Given the description of an element on the screen output the (x, y) to click on. 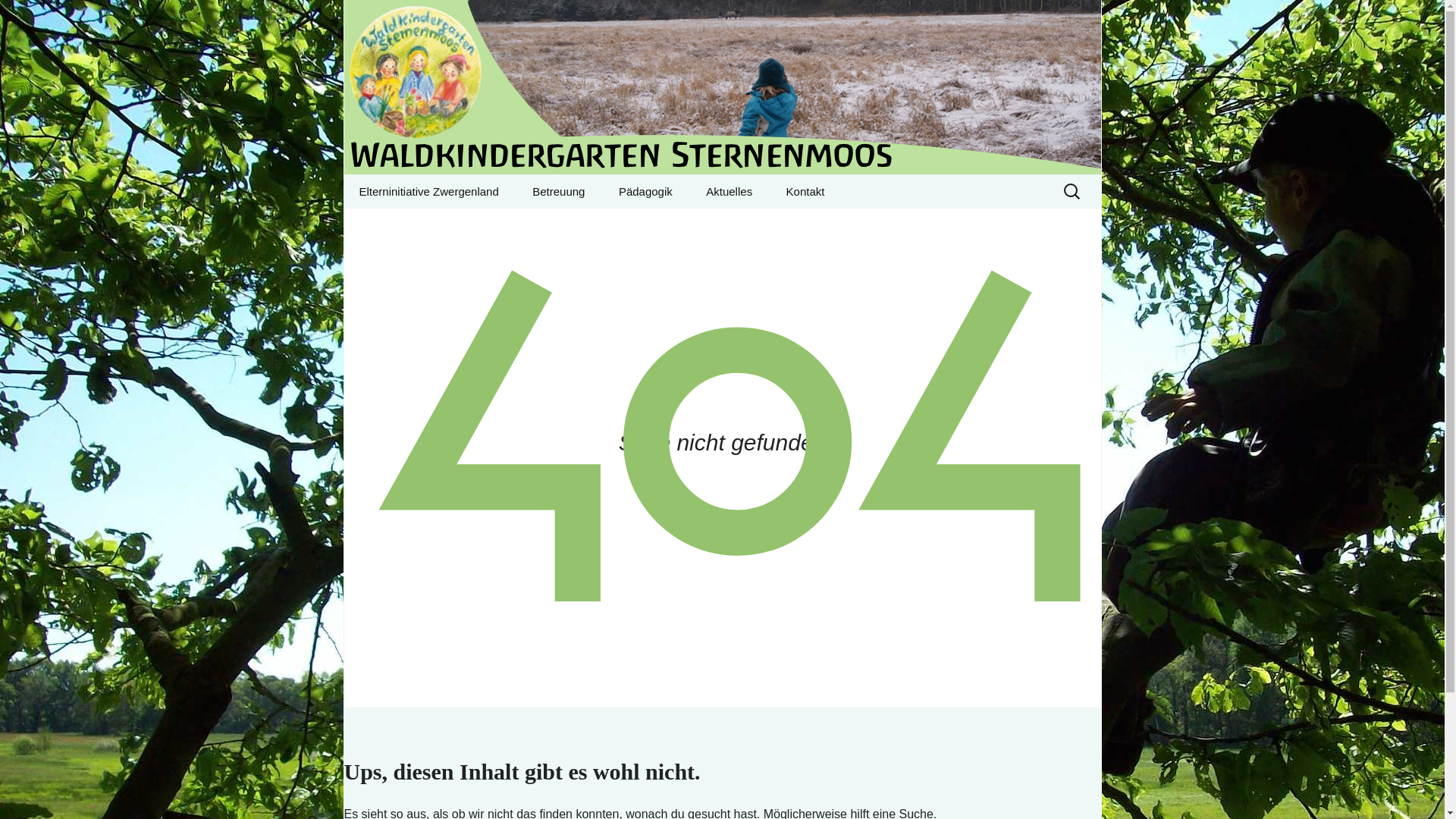
Elterninitiative Zwergenland (428, 191)
Das Team (592, 225)
Aktuelles (728, 191)
Pressemitteilungen (766, 225)
Suche (18, 15)
Betreuung (557, 191)
Grundlagen (679, 225)
Kontakt (721, 87)
